Given the description of an element on the screen output the (x, y) to click on. 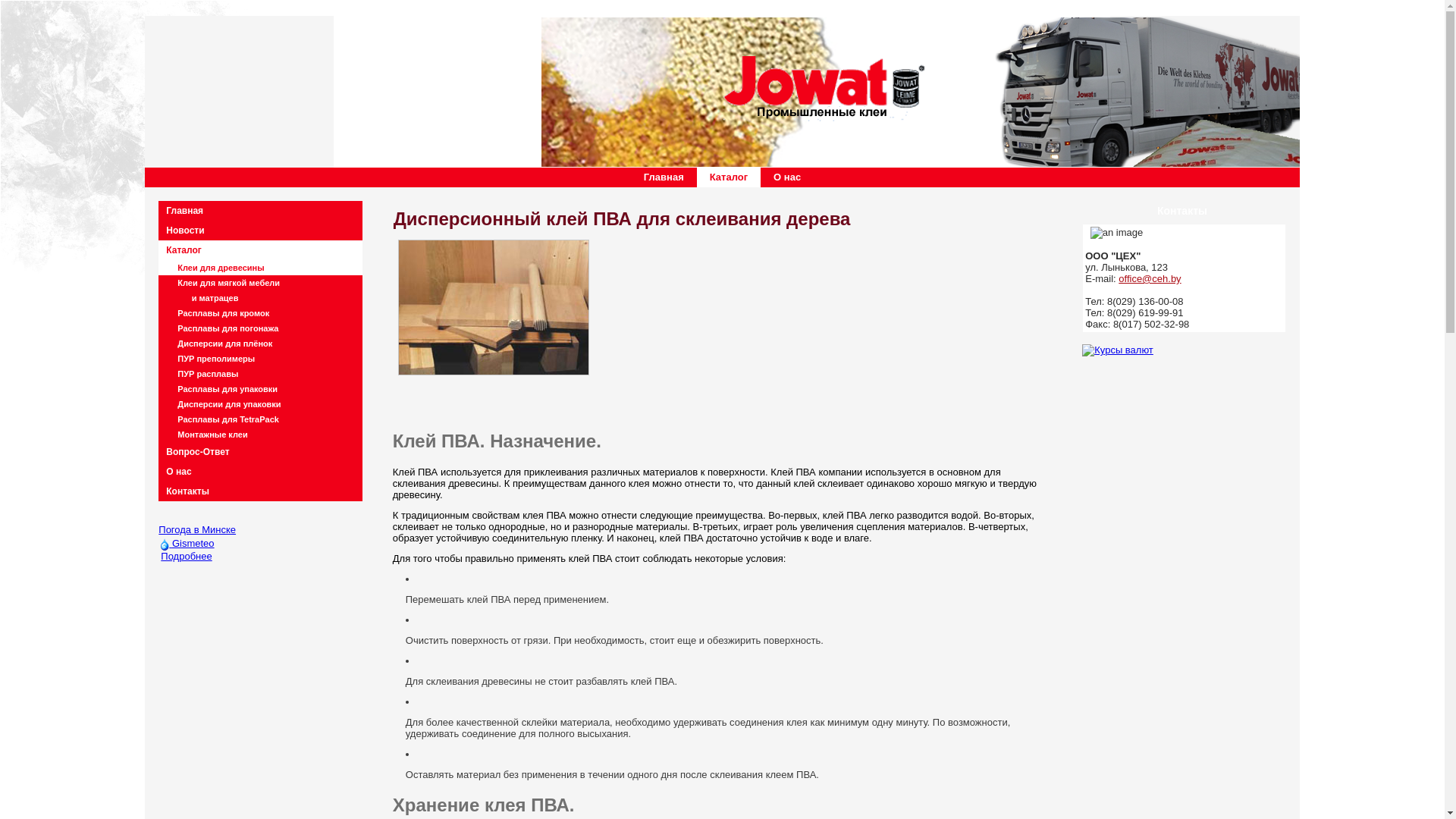
office@ceh.by Element type: text (1149, 278)
Gismeteo Element type: text (186, 543)
Gismeteo Element type: hover (164, 544)
